Given the description of an element on the screen output the (x, y) to click on. 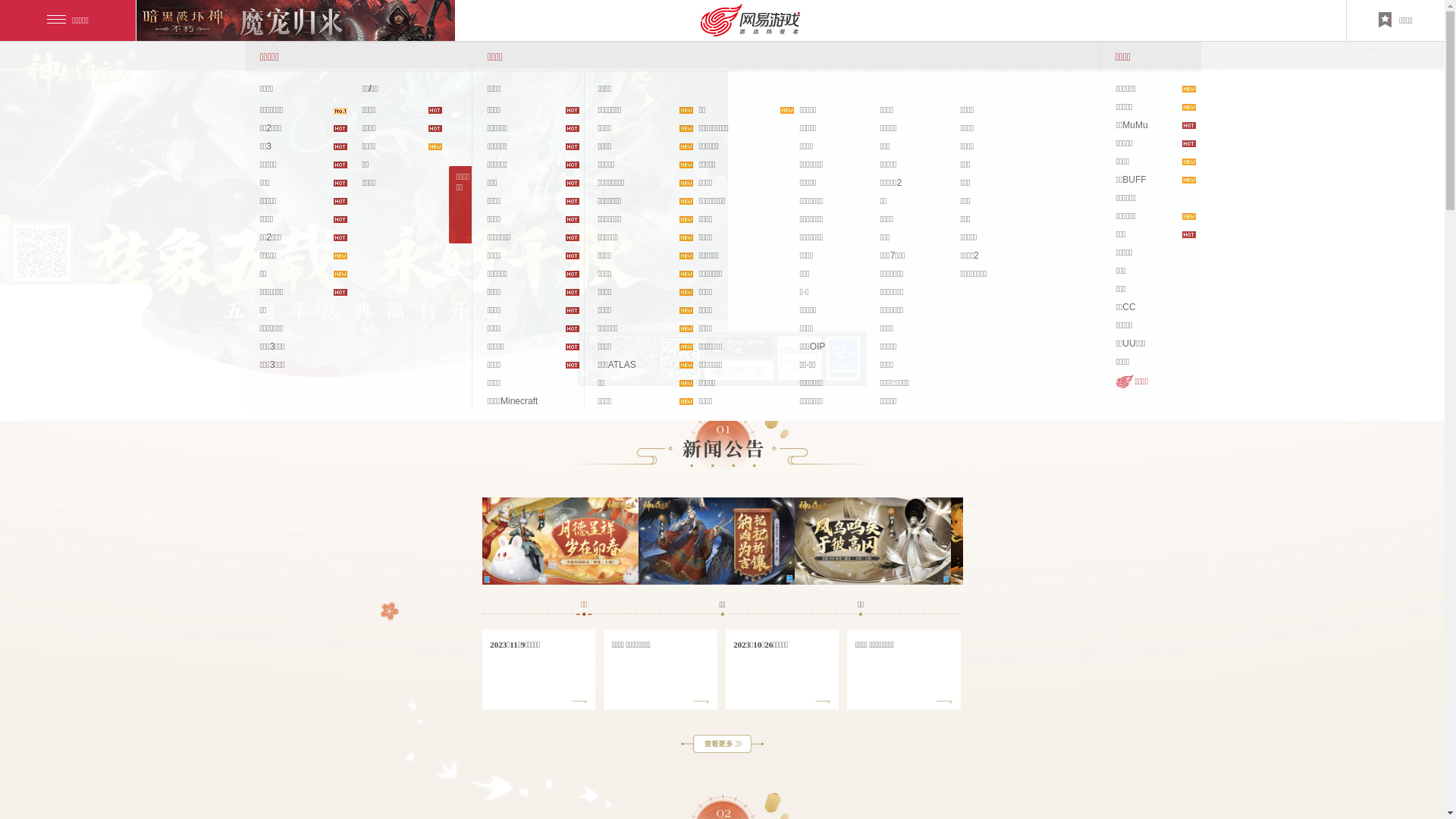
video Element type: hover (617, 357)
